Given the description of an element on the screen output the (x, y) to click on. 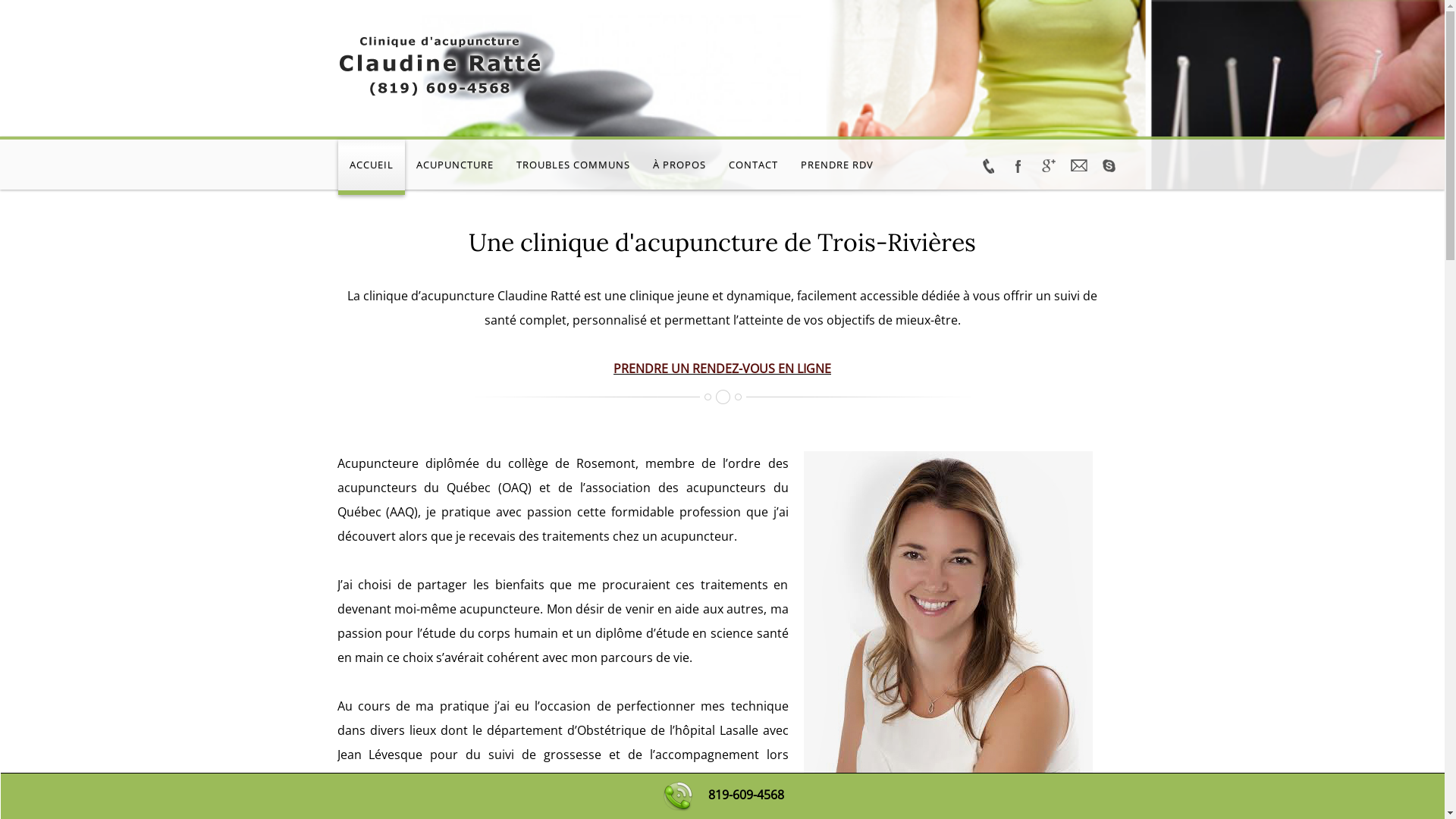
Facebook Element type: text (1017, 166)
819-609-4568 Element type: text (746, 794)
ACUPUNCTURE Element type: text (454, 166)
Google+ Element type: text (1047, 166)
PRENDRE RDV Element type: text (836, 166)
CONTACT Element type: text (753, 166)
PRENDRE UN RENDEZ-VOUS EN LIGNE Element type: text (722, 368)
Blogger Element type: text (1078, 166)
Skype Element type: text (1108, 166)
TROUBLES COMMUNS Element type: text (573, 166)
ACCUEIL Element type: text (371, 166)
Twitter Element type: text (987, 166)
